Given the description of an element on the screen output the (x, y) to click on. 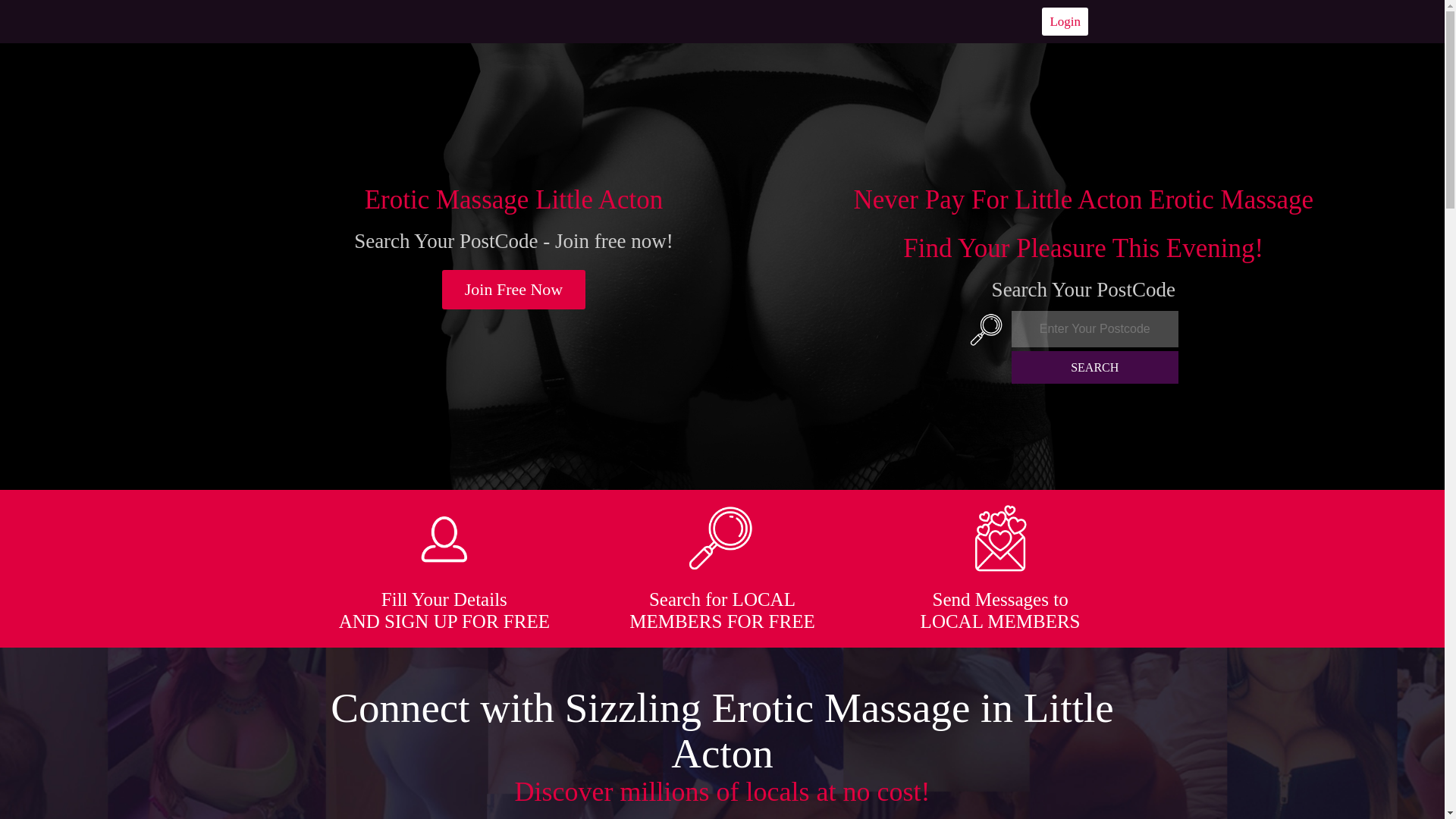
SEARCH (1094, 367)
Join Free Now (514, 289)
Login (1064, 21)
Join (514, 289)
Login (1064, 21)
